Given the description of an element on the screen output the (x, y) to click on. 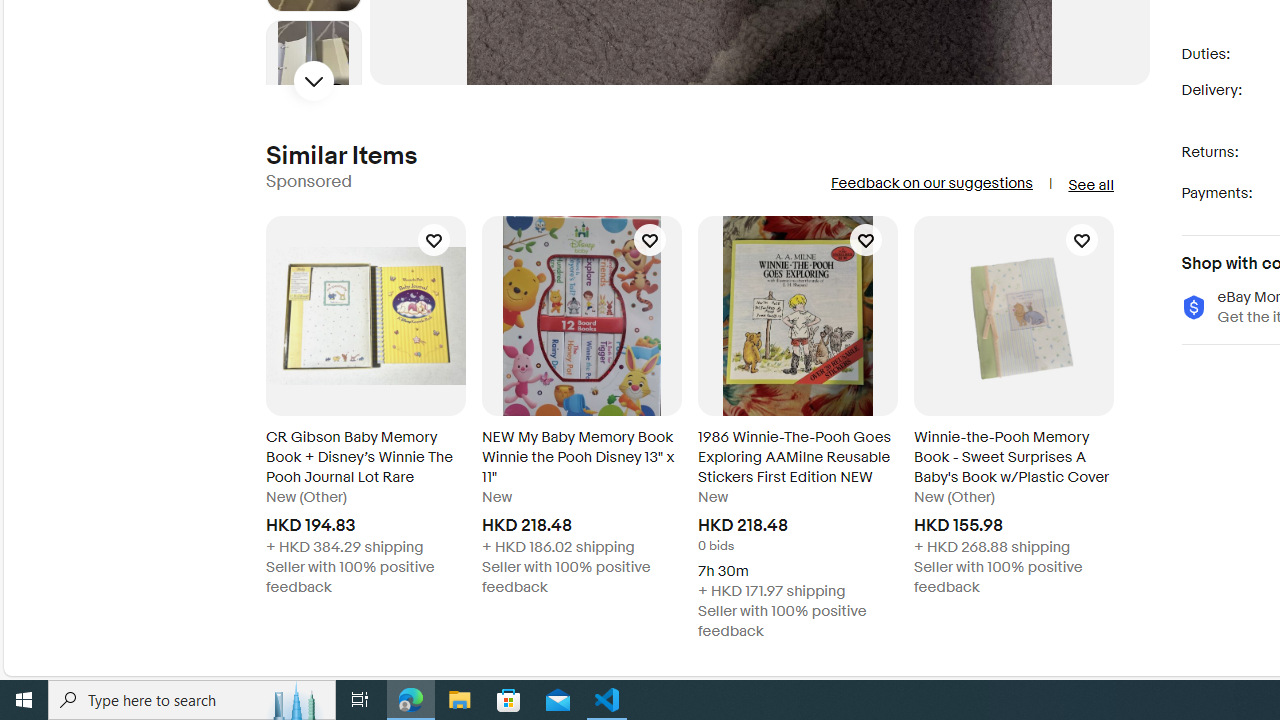
Picture 6 of 22 (313, 67)
See all (1090, 184)
Next image - Item images thumbnails (313, 80)
Feedback on our suggestions (930, 183)
Picture 6 of 22 (313, 67)
